Given the description of an element on the screen output the (x, y) to click on. 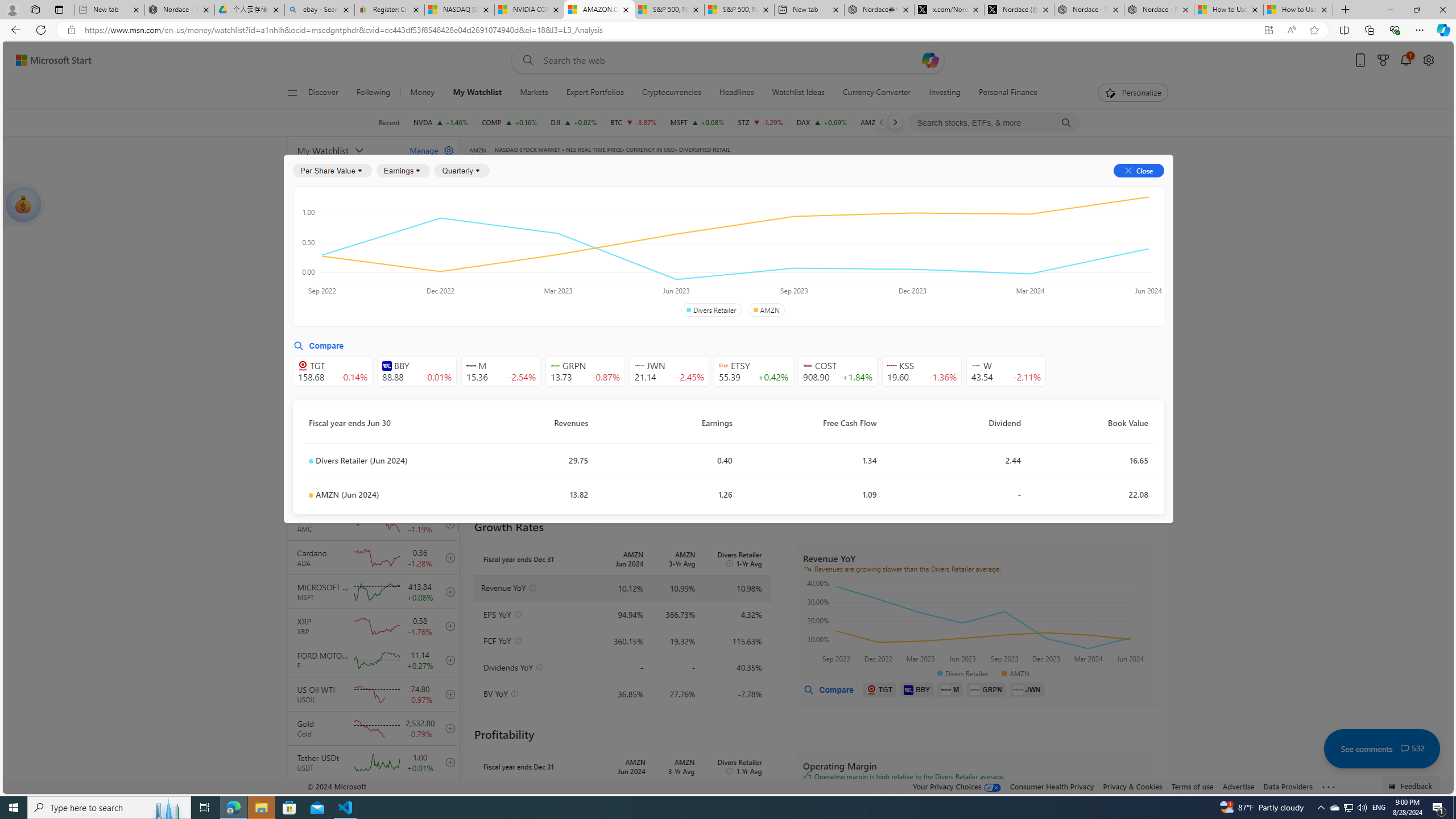
Watchlist Ideas (797, 92)
Options (1123, 188)
Class: autoSuggestIcon-DS-EntryPoint1-2 (976, 365)
Nordace (@NordaceOfficial) / X (1018, 9)
Income Statement (550, 223)
Valuation (714, 253)
Divers Retailer (711, 310)
Cryptocurrencies (671, 92)
